Given the description of an element on the screen output the (x, y) to click on. 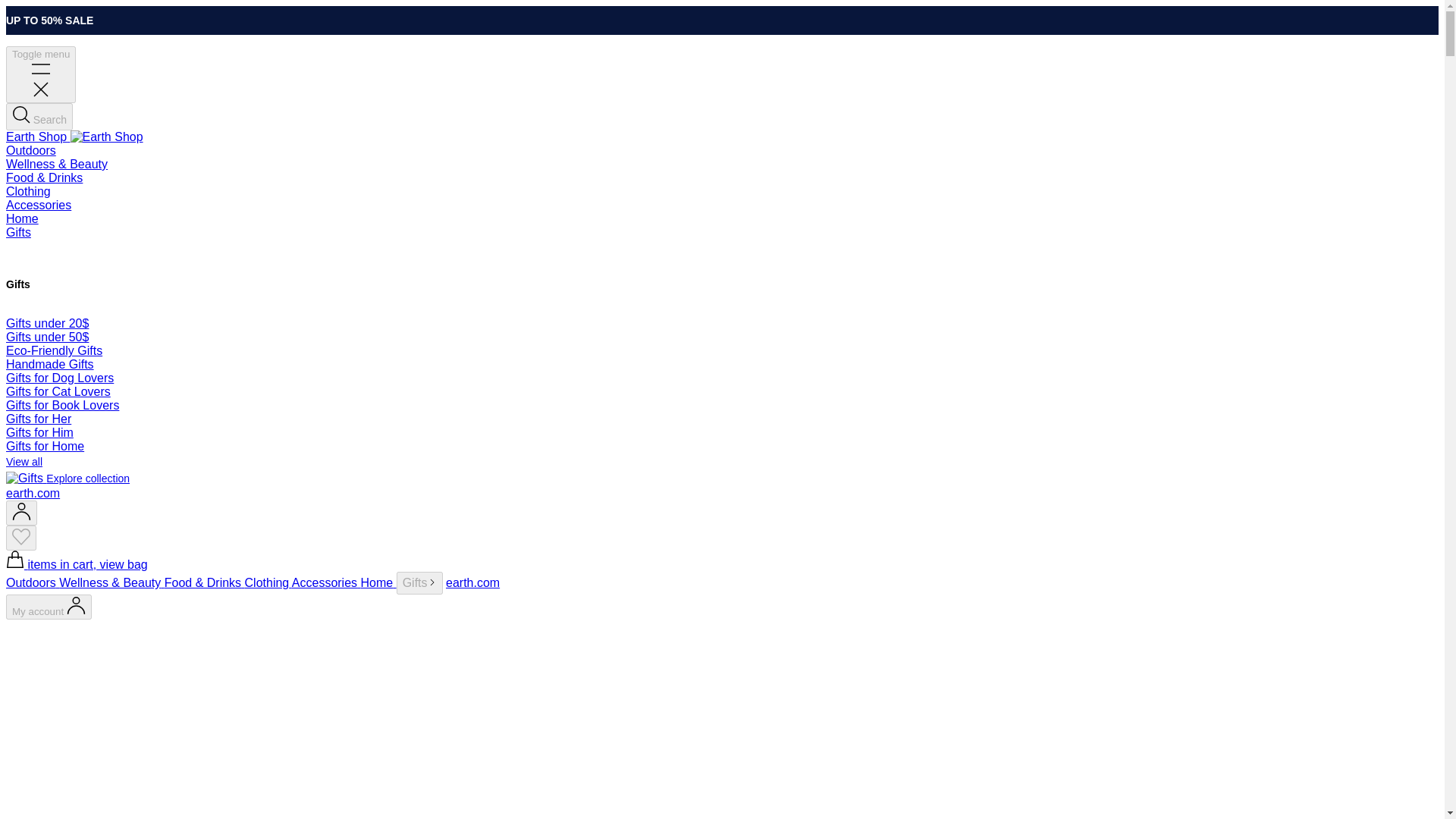
My account (48, 606)
earth.com (32, 492)
Search (38, 116)
Gifts (419, 582)
Handmade Gifts (49, 364)
Gifts for Dog Lovers (59, 377)
View all (23, 461)
Outdoors (30, 150)
earth.com (472, 582)
Gifts for Cat Lovers (57, 391)
Home (378, 582)
Earth Shop (73, 136)
Explore collection (67, 477)
items in cart, view bag (76, 563)
Home (22, 218)
